Given the description of an element on the screen output the (x, y) to click on. 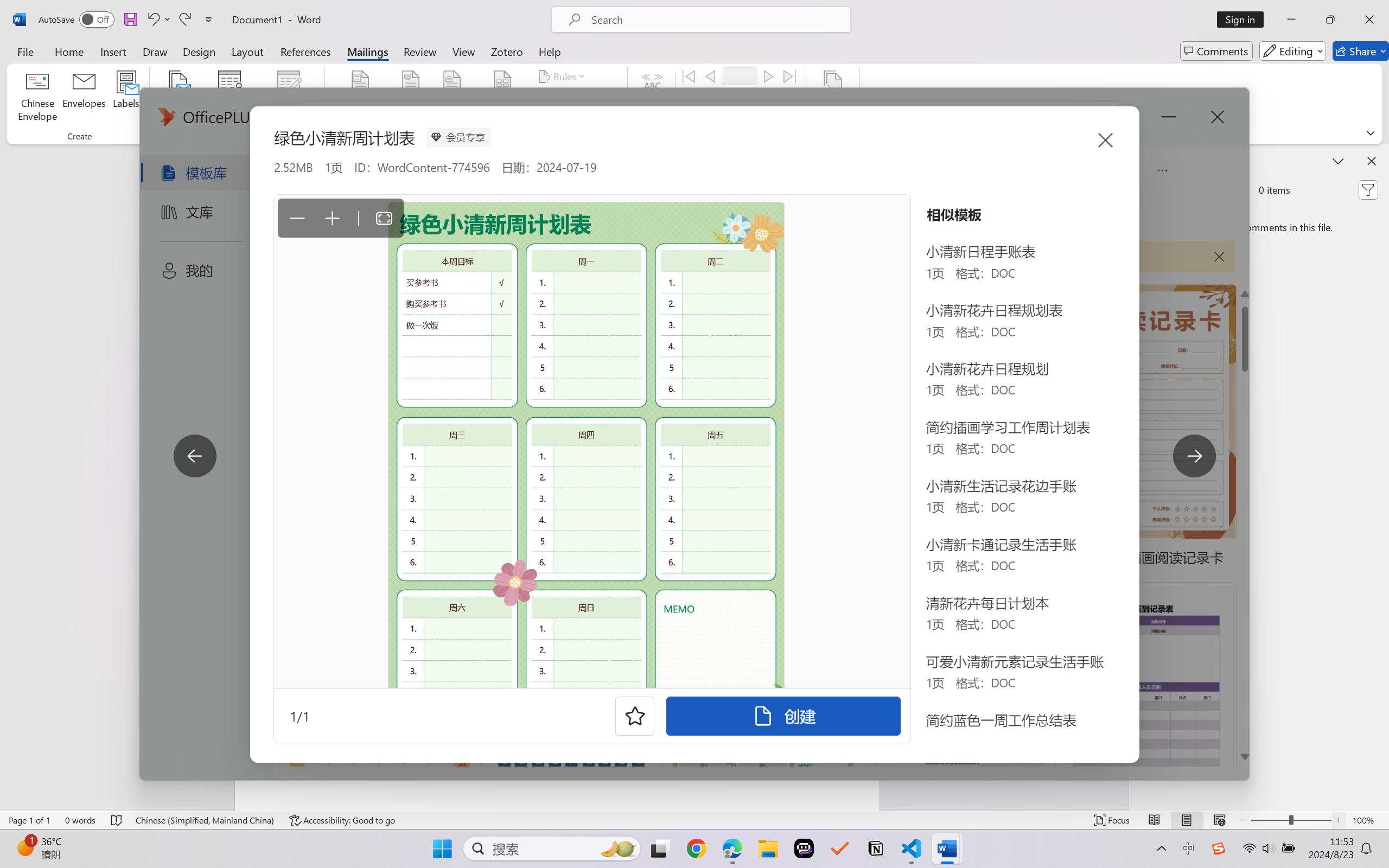
Update Labels (576, 118)
Address Block... (410, 97)
Insert Merge Field (502, 97)
Greeting Line... (451, 97)
